Given the description of an element on the screen output the (x, y) to click on. 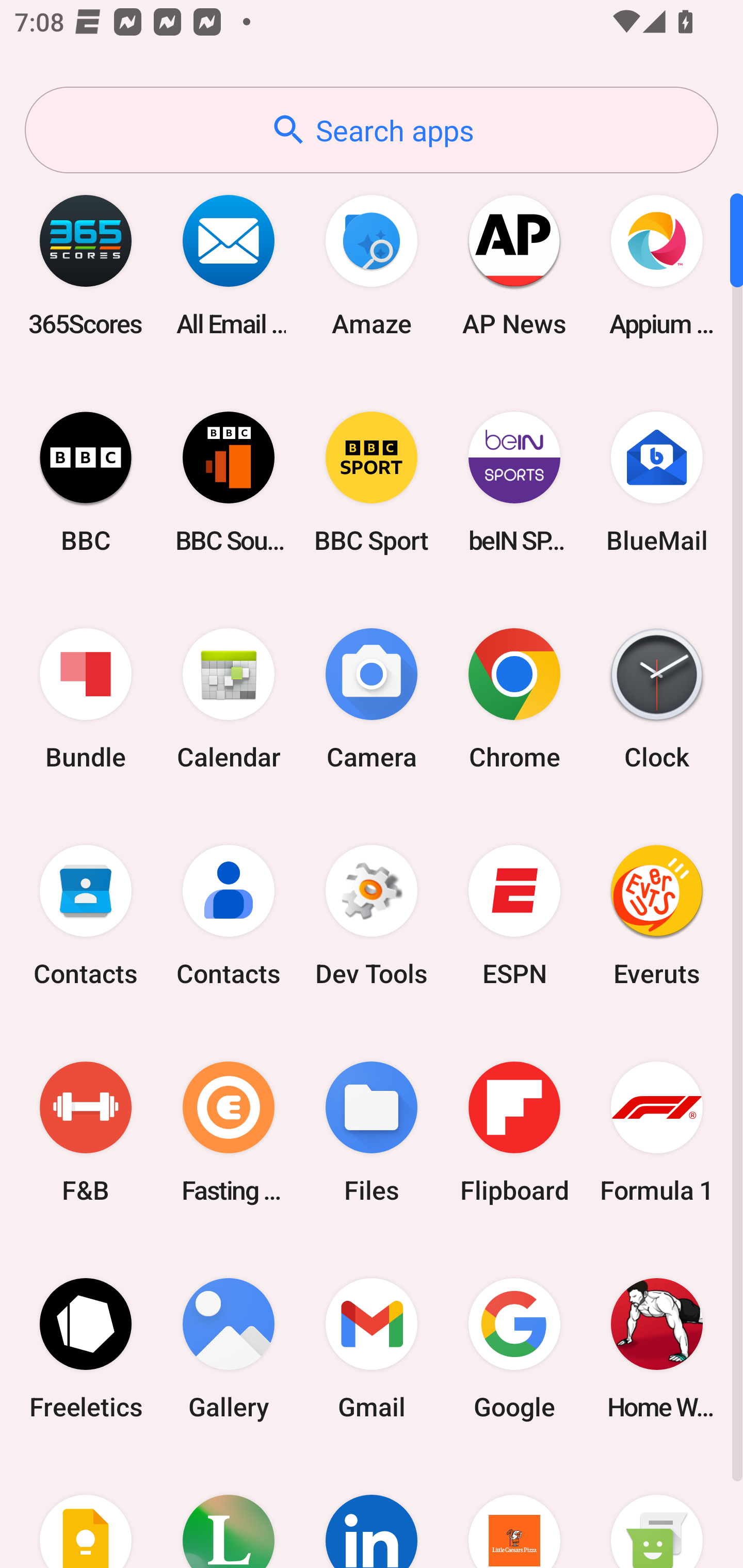
  Search apps (371, 130)
365Scores (85, 264)
All Email Connect (228, 264)
Amaze (371, 264)
AP News (514, 264)
Appium Settings (656, 264)
BBC (85, 482)
BBC Sounds (228, 482)
BBC Sport (371, 482)
beIN SPORTS (514, 482)
BlueMail (656, 482)
Bundle (85, 699)
Calendar (228, 699)
Camera (371, 699)
Chrome (514, 699)
Clock (656, 699)
Contacts (85, 915)
Contacts (228, 915)
Dev Tools (371, 915)
ESPN (514, 915)
Everuts (656, 915)
F&B (85, 1131)
Fasting Coach (228, 1131)
Files (371, 1131)
Flipboard (514, 1131)
Formula 1 (656, 1131)
Freeletics (85, 1348)
Gallery (228, 1348)
Gmail (371, 1348)
Google (514, 1348)
Home Workout (656, 1348)
